Given the description of an element on the screen output the (x, y) to click on. 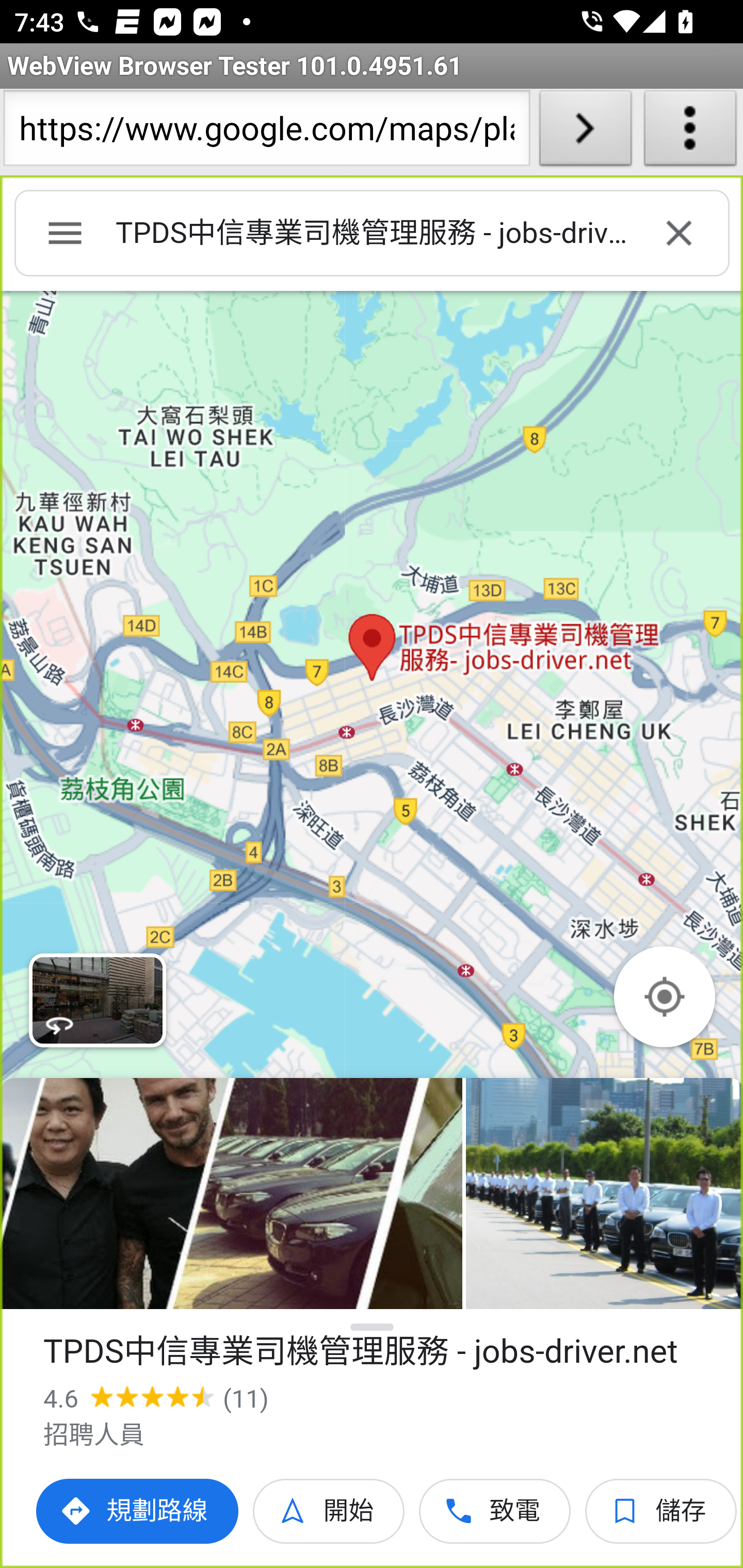
Load URL (585, 132)
About WebView (690, 132)
第 1 張相片 (共 8 張) (231, 1193)
第 2 張相片 (共 8 張) (604, 1193)
顯示詳細資料 (372, 1327)
前往TPDS中信專業司機管理服務 - jobs-driver.net的路線 (137, 1511)
開始 (329, 1511)
致電「TPDS中信專業司機管理服務 - jobs-driver.net」  致電 (495, 1511)
將「TPDS中信專業司機管理服務 - jobs-driver.net」儲存至清單中 (661, 1511)
